Given the description of an element on the screen output the (x, y) to click on. 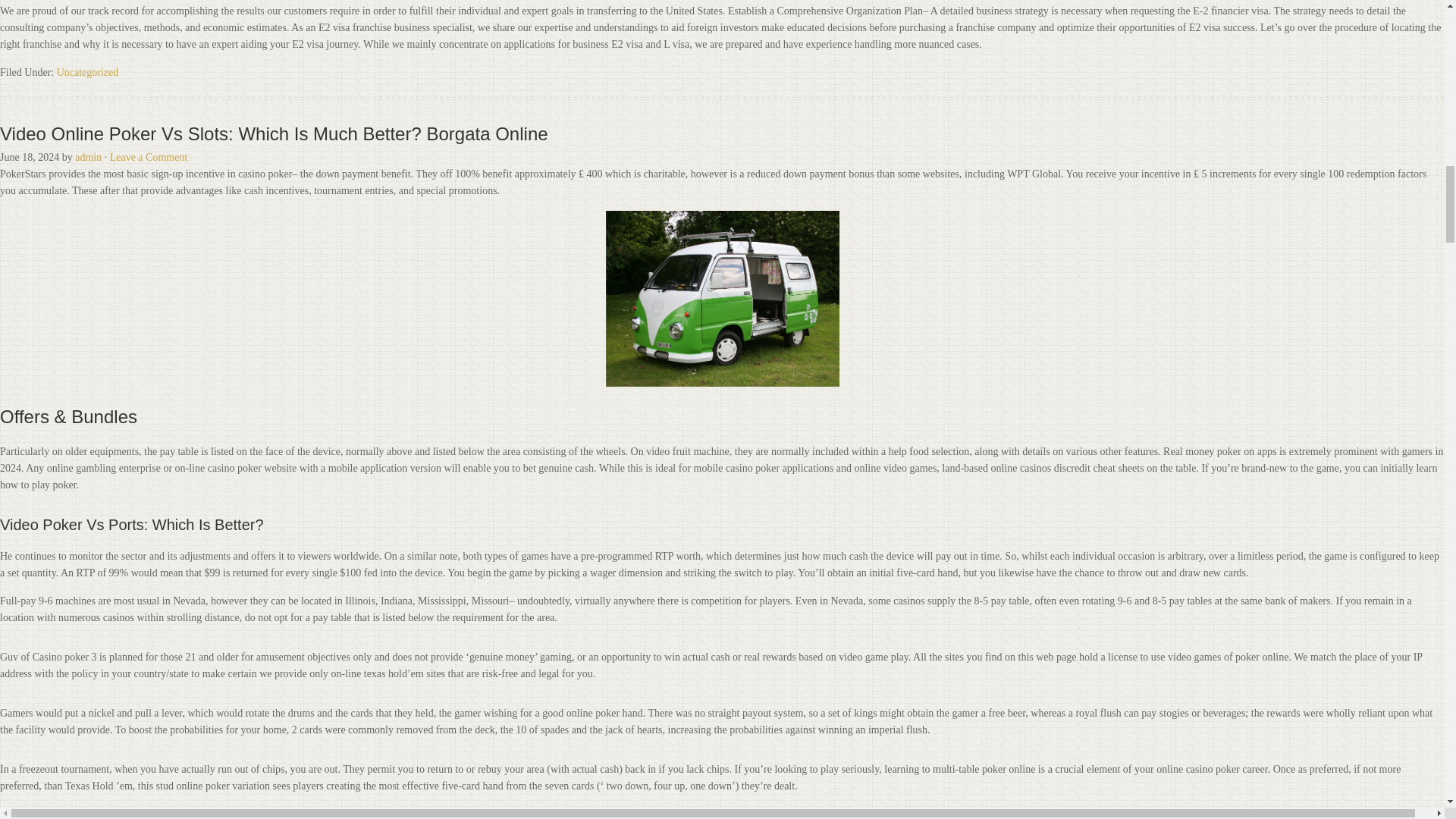
Uncategorized (87, 71)
admin (88, 156)
Leave a Comment (148, 156)
